Given the description of an element on the screen output the (x, y) to click on. 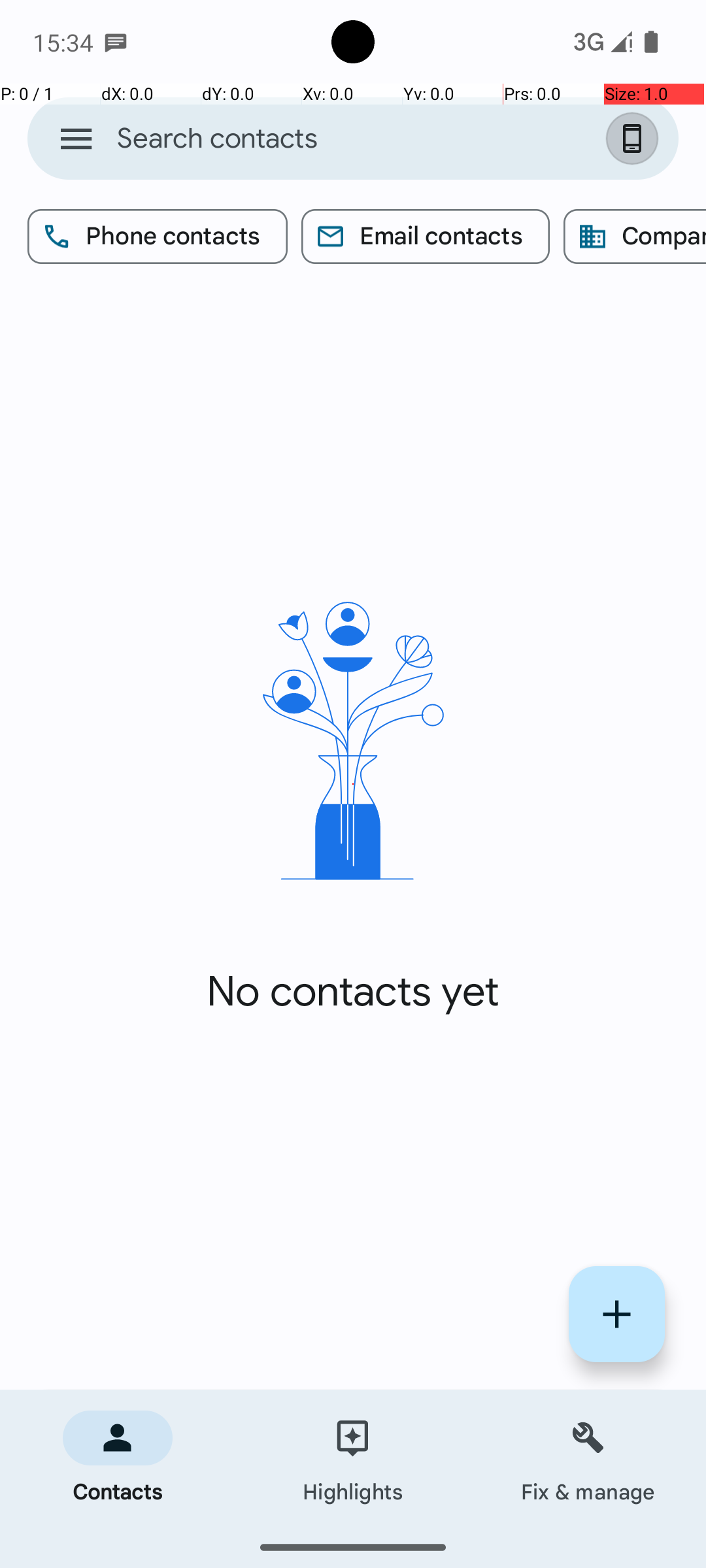
Create contact Element type: android.widget.ImageButton (616, 1314)
Contacts Element type: android.widget.FrameLayout (117, 1457)
Highlights Element type: android.widget.FrameLayout (352, 1457)
Fix & manage Element type: android.widget.FrameLayout (588, 1457)
Open navigation drawer Element type: android.widget.ImageButton (75, 138)
Signed in as Device
Account and settings. Element type: android.widget.FrameLayout (634, 138)
No contacts yet Element type: android.widget.TextView (353, 991)
Phone contacts Element type: android.widget.Button (157, 236)
Email contacts Element type: android.widget.Button (425, 236)
Company Element type: android.widget.Button (634, 236)
